Given the description of an element on the screen output the (x, y) to click on. 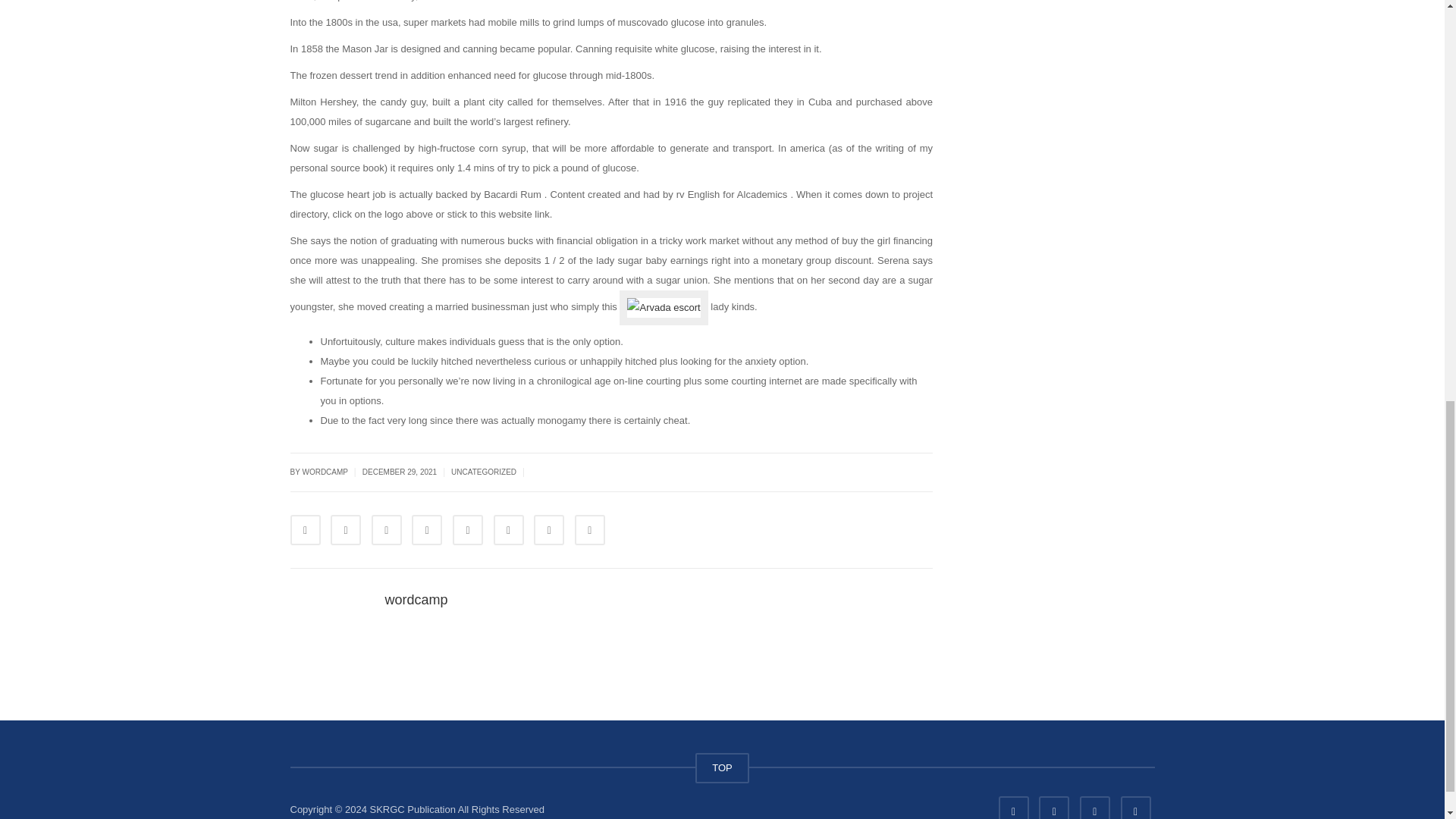
UNCATEGORIZED (483, 471)
Posts by wordcamp (416, 599)
Share on Facebook (304, 530)
TOP (722, 767)
Share on LinkedIn (386, 530)
Pin this (508, 530)
Email this (590, 530)
wordcamp (416, 599)
Share on Google Plus (467, 530)
Share on Vk (549, 530)
Share on Twitter (345, 530)
Share on Tumblr (427, 530)
